Given the description of an element on the screen output the (x, y) to click on. 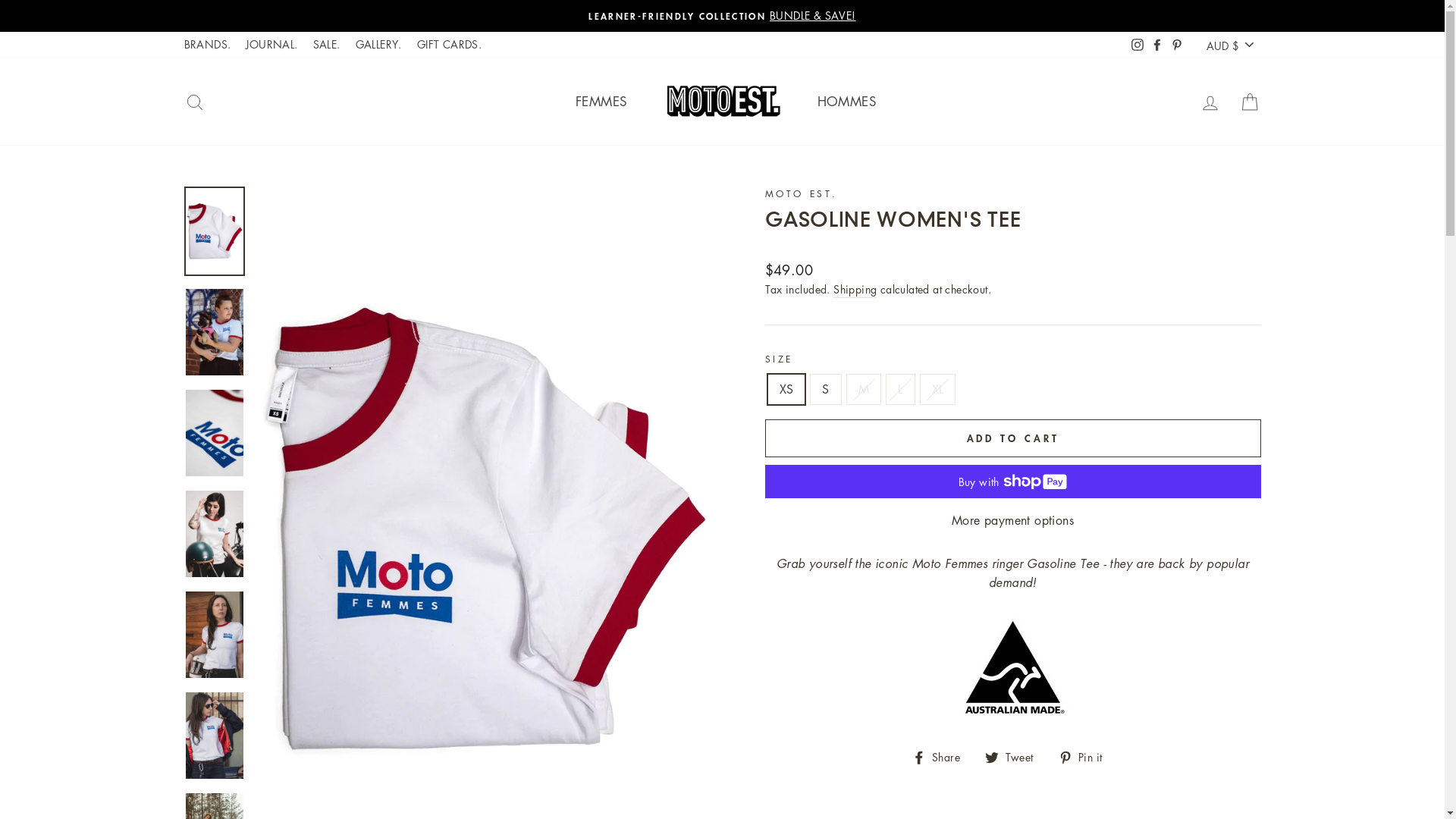
FEMMES Element type: text (601, 101)
JOURNAL. Element type: text (271, 44)
AUD $ Element type: text (1231, 44)
Search Element type: text (193, 101)
BRANDS. Element type: text (206, 44)
GALLERY. Element type: text (378, 44)
ADD TO CART Element type: text (1012, 438)
Pin it
Pin on Pinterest Element type: text (1085, 728)
MOTO EST. Element type: text (800, 193)
Tweet
Tweet on Twitter Element type: text (1014, 728)
MOTO MATES REWARDSGIVE $20 GET $20 Element type: text (722, 15)
Log in Element type: text (1210, 101)
HOMMES Element type: text (846, 101)
Skip to content Element type: text (0, 0)
SALE. Element type: text (326, 44)
Share
Share on Facebook Element type: text (941, 728)
GIFT CARDS. Element type: text (449, 44)
Facebook Element type: text (1157, 44)
Cart Element type: text (1249, 101)
Shipping Element type: text (854, 289)
Instagram Element type: text (1137, 44)
Pinterest Element type: text (1176, 44)
